Given the description of an element on the screen output the (x, y) to click on. 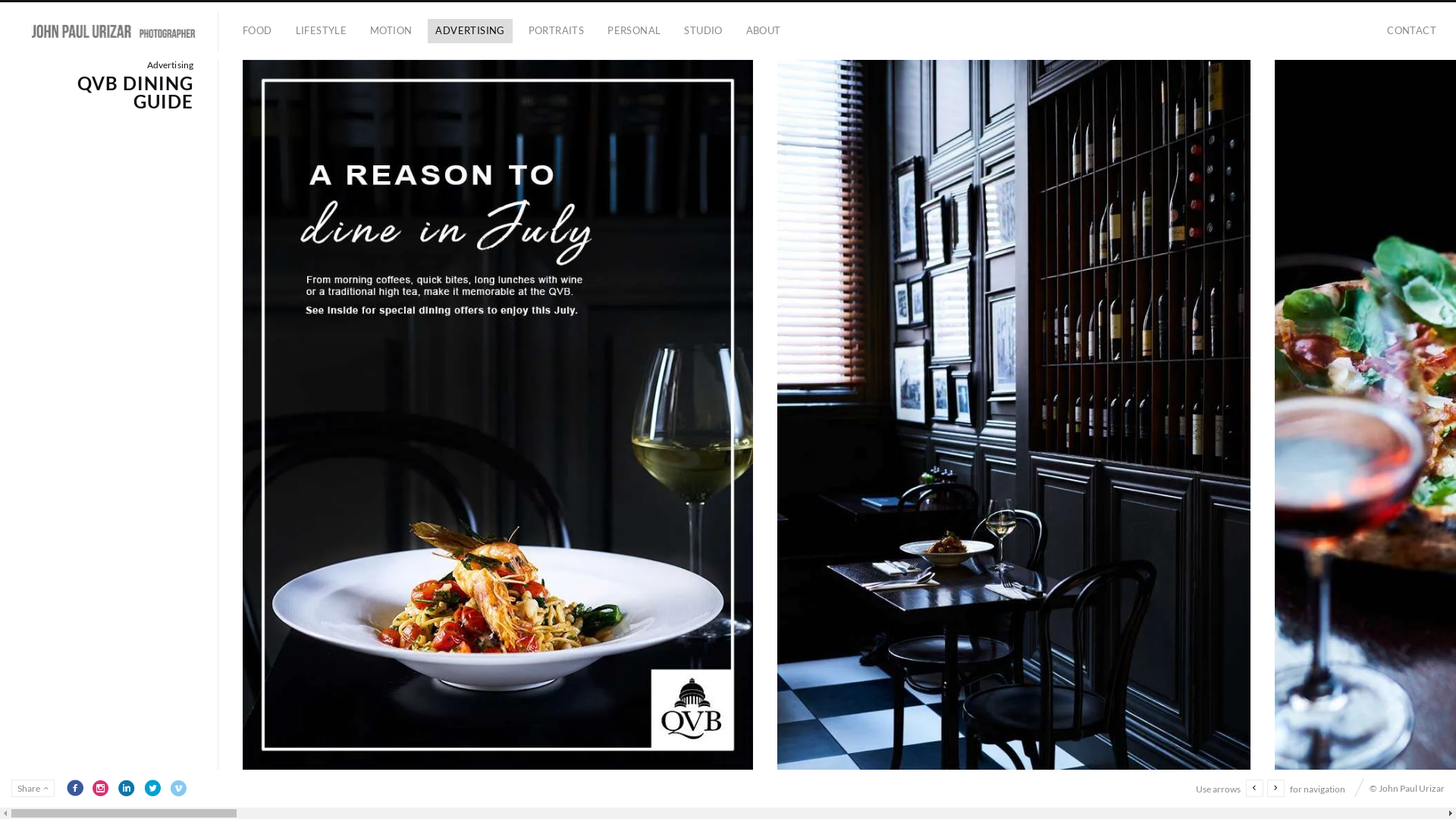
FOOD Element type: text (257, 30)
vimeo Element type: hover (177, 787)
instagram Element type: hover (100, 787)
ADVERTISING Element type: text (469, 30)
ABOUT Element type: text (763, 30)
John Paul Urizar Photographer Element type: hover (115, 30)
linkedin Element type: hover (126, 787)
twitter Element type: hover (152, 787)
PERSONAL Element type: text (633, 30)
CONTACT Element type: text (1411, 30)
LIFESTYLE Element type: text (321, 30)
MOTION Element type: text (390, 30)
STUDIO Element type: text (702, 30)
PORTRAITS Element type: text (556, 30)
facebook Element type: hover (74, 787)
